Given the description of an element on the screen output the (x, y) to click on. 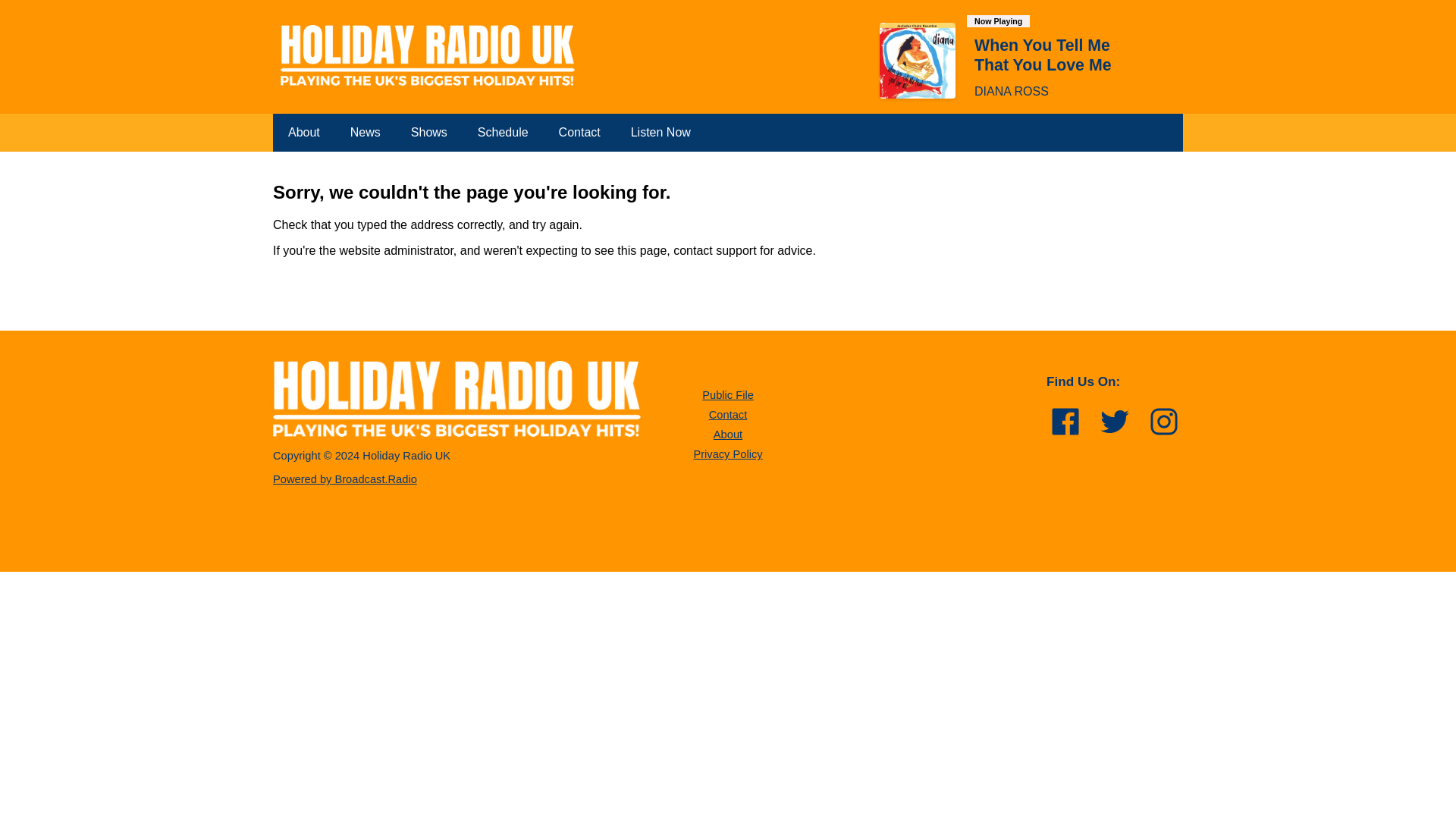
Privacy Policy (727, 453)
Shows (429, 132)
Schedule (503, 132)
Listen Now (660, 132)
News (365, 132)
About (303, 132)
Contact (579, 132)
Schedule (503, 132)
Contact (728, 414)
Public File (727, 395)
About (303, 132)
Listen Now (660, 132)
Powered by Broadcast.Radio (344, 479)
About (727, 434)
Shows (429, 132)
